Given the description of an element on the screen output the (x, y) to click on. 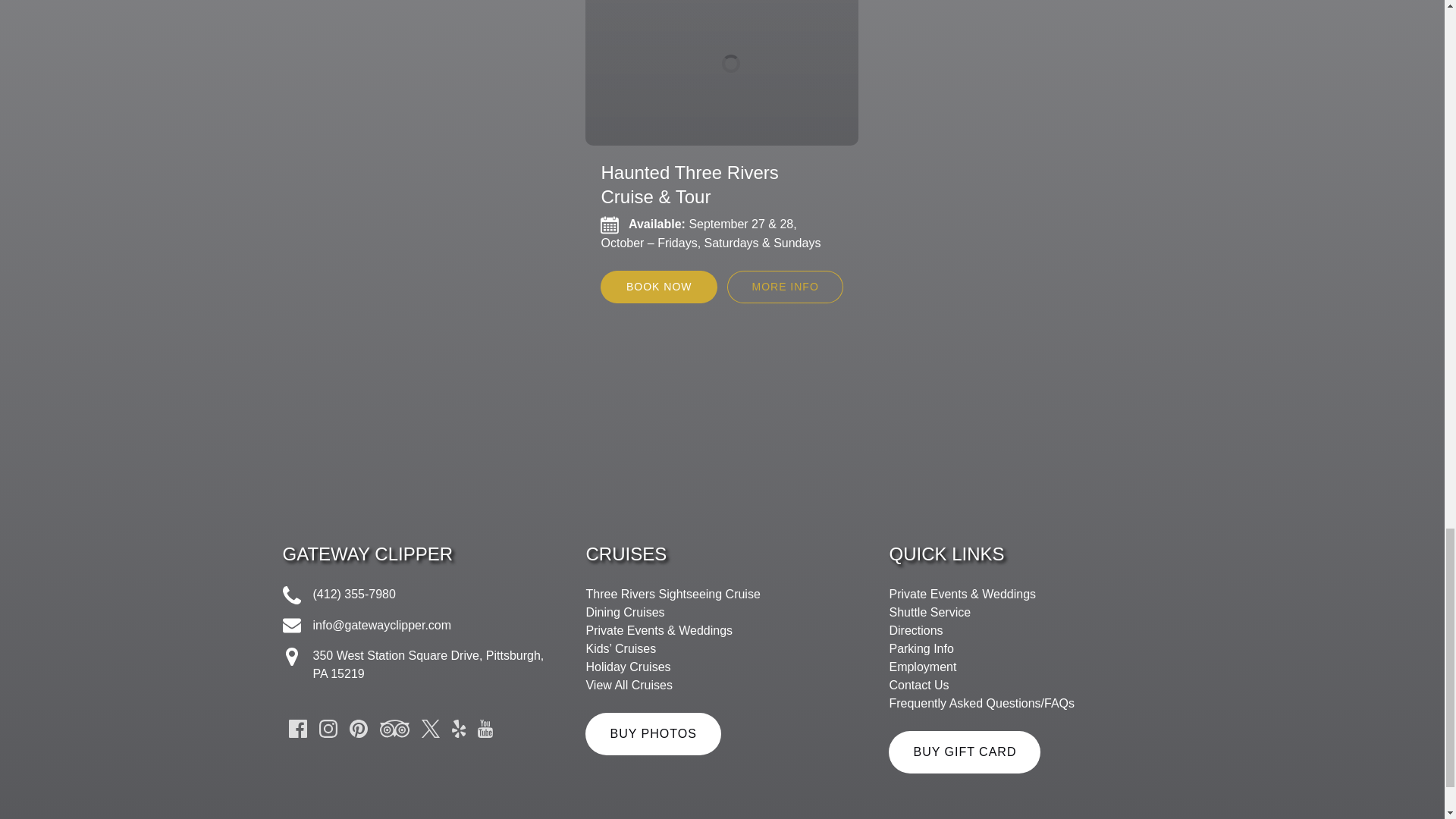
Phone (290, 594)
Calendar (608, 225)
Map Marker (290, 656)
Envelope (290, 625)
